Given the description of an element on the screen output the (x, y) to click on. 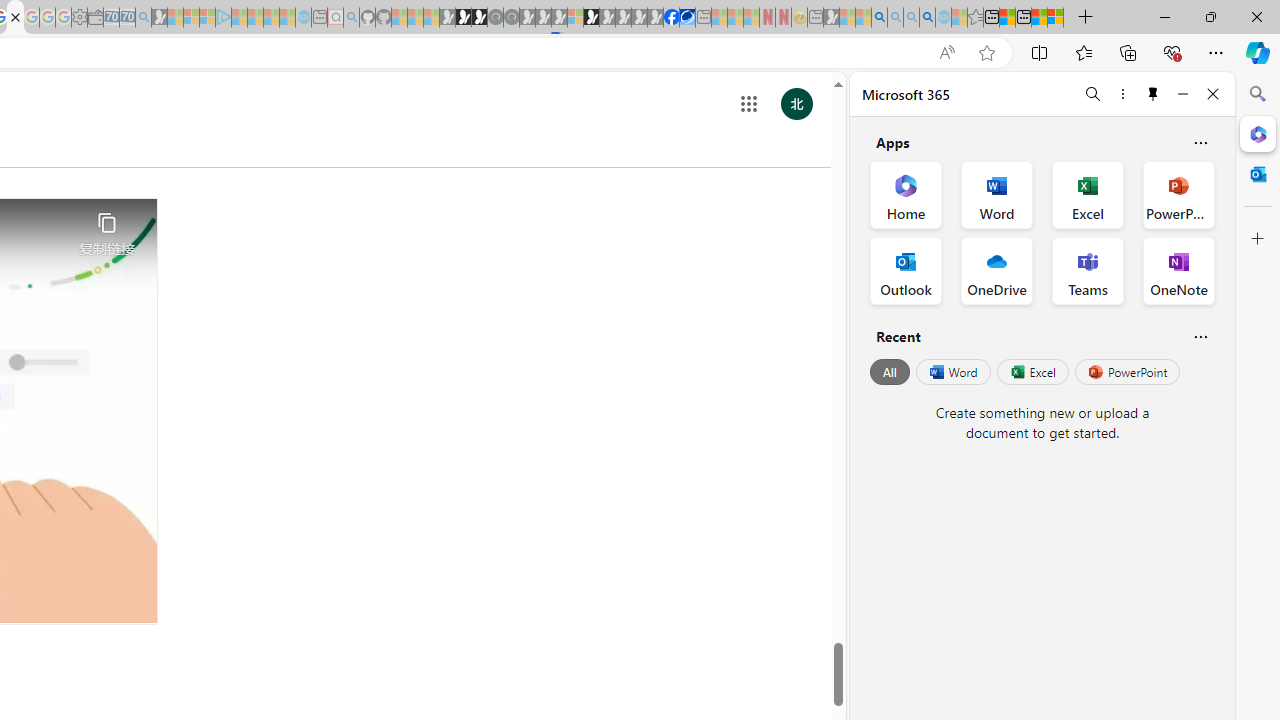
Excel (1031, 372)
Is this helpful? (1200, 336)
OneDrive Office App (996, 270)
